Given the description of an element on the screen output the (x, y) to click on. 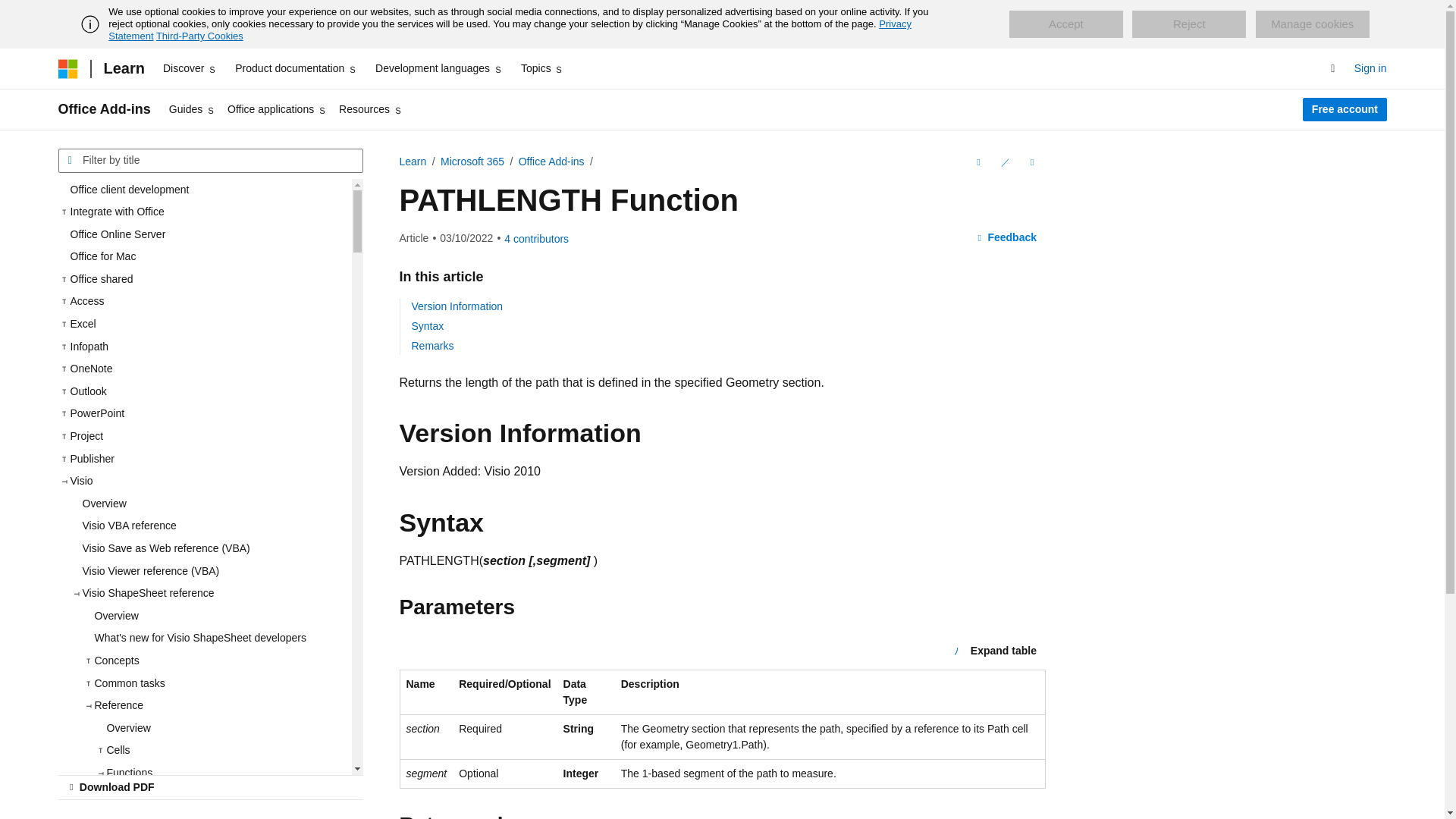
Discover (189, 68)
Learn (123, 68)
Resources (371, 109)
Development languages (438, 68)
Reject (1189, 23)
Guides (192, 109)
Accept (1065, 23)
Manage cookies (1312, 23)
Office applications (277, 109)
Product documentation (295, 68)
Office Add-ins (103, 109)
More actions (1031, 161)
Topics (542, 68)
Sign in (1370, 68)
Edit This Document (1004, 161)
